Given the description of an element on the screen output the (x, y) to click on. 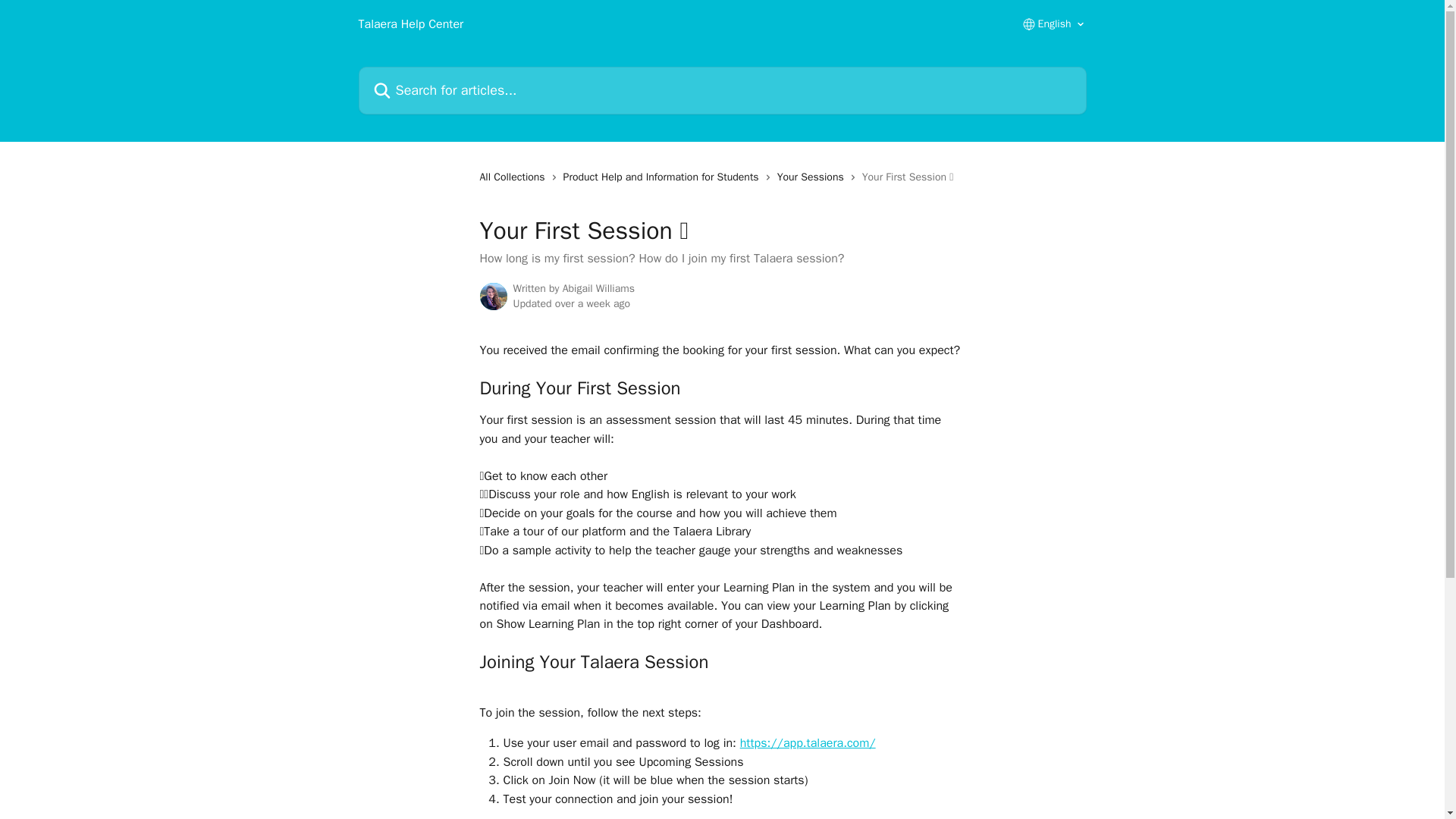
All Collections (514, 176)
Your Sessions (813, 176)
Product Help and Information for Students (664, 176)
